Given the description of an element on the screen output the (x, y) to click on. 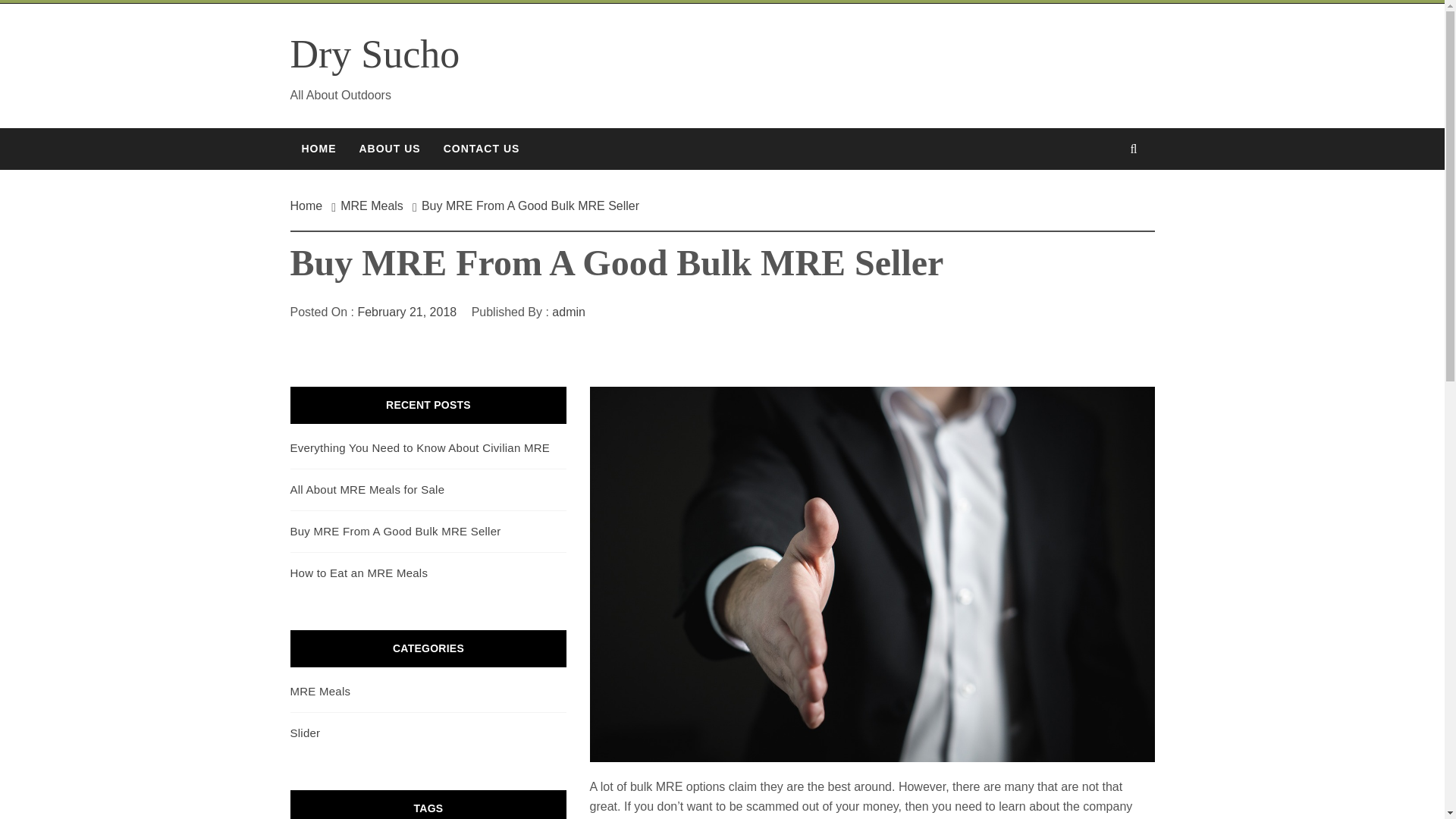
February 21, 2018 (406, 311)
How to Eat an MRE Meals (358, 572)
Buy MRE From A Good Bulk MRE Seller (529, 205)
Search (797, 37)
MRE Meals (319, 690)
ABOUT US (388, 148)
All About MRE Meals for Sale (366, 489)
CONTACT US (481, 148)
MRE Meals (371, 205)
Everything You Need to Know About Civilian MRE (419, 447)
HOME (318, 148)
Buy MRE From A Good Bulk MRE Seller (394, 530)
Dry Sucho (374, 54)
admin (568, 311)
